Given the description of an element on the screen output the (x, y) to click on. 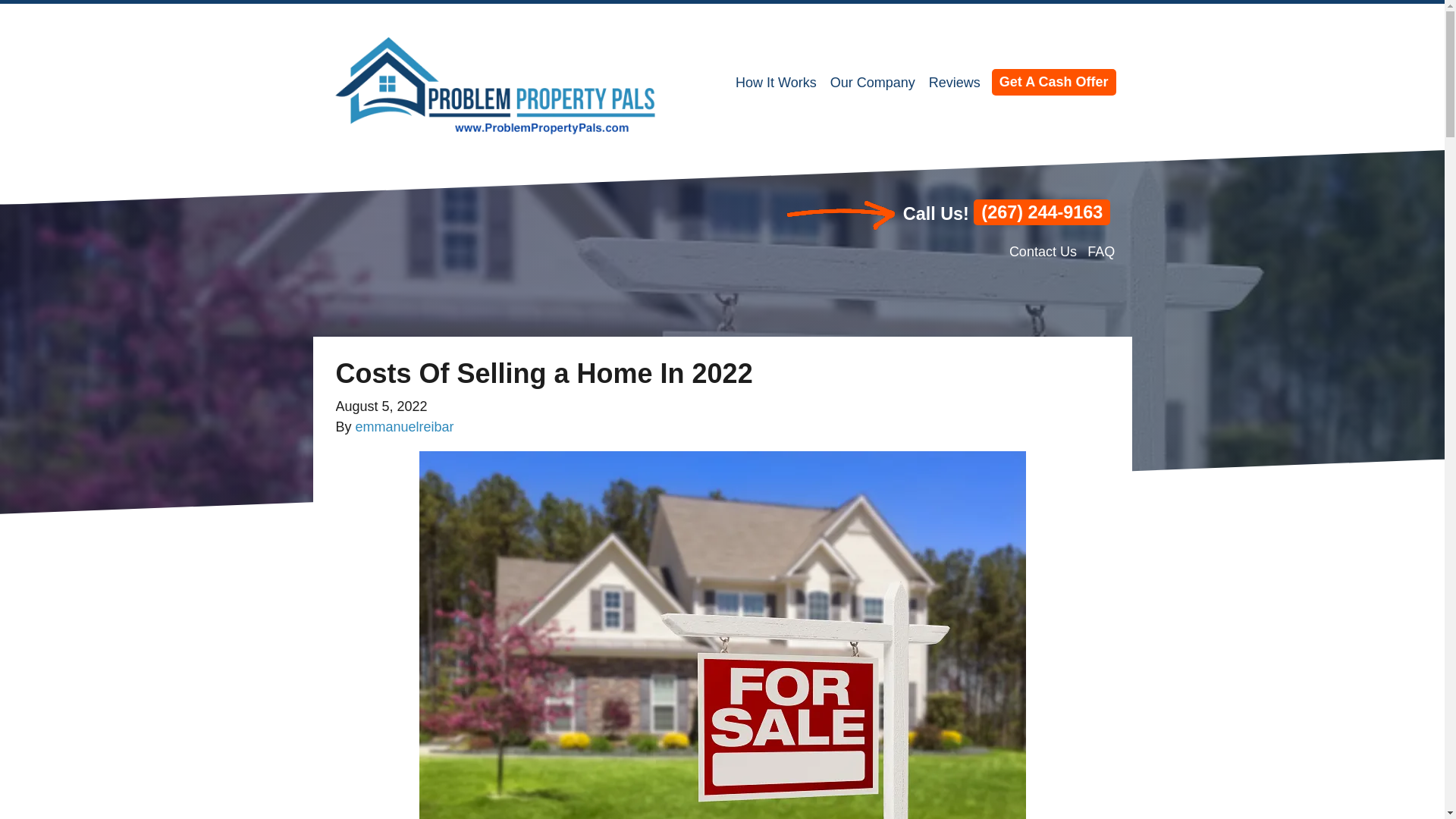
Contact Us (1043, 251)
How It Works (776, 82)
Get A Cash Offer (1053, 81)
Reviews (954, 82)
How It Works (776, 82)
Our Company (872, 82)
Get A Cash Offer (1053, 81)
Reviews (954, 82)
FAQ (1101, 251)
Our Company (872, 82)
